Given the description of an element on the screen output the (x, y) to click on. 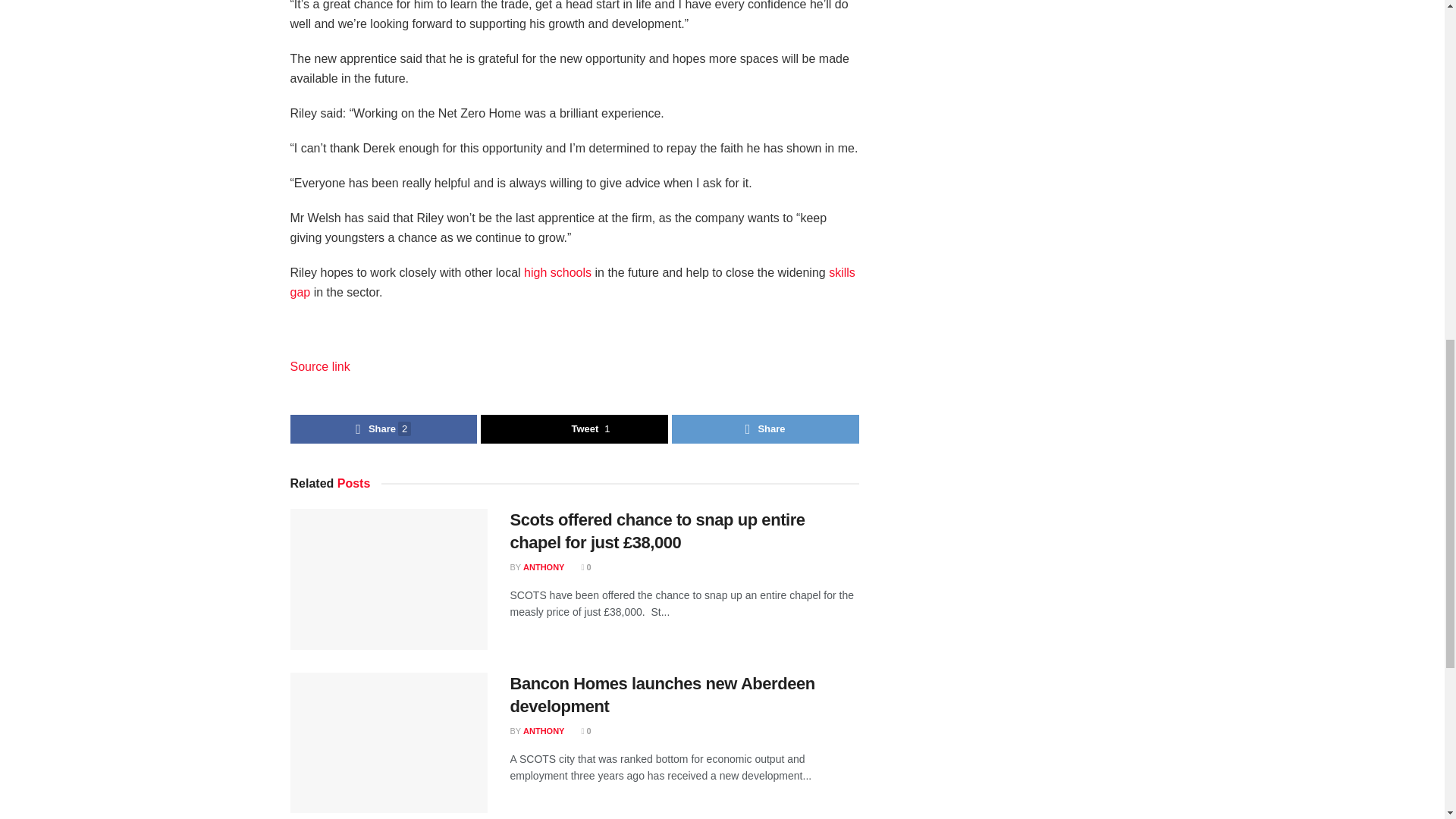
skills gap (571, 282)
Source link (319, 366)
high schools (557, 272)
Share2 (383, 428)
Tweet1 (574, 428)
Share (765, 428)
